Given the description of an element on the screen output the (x, y) to click on. 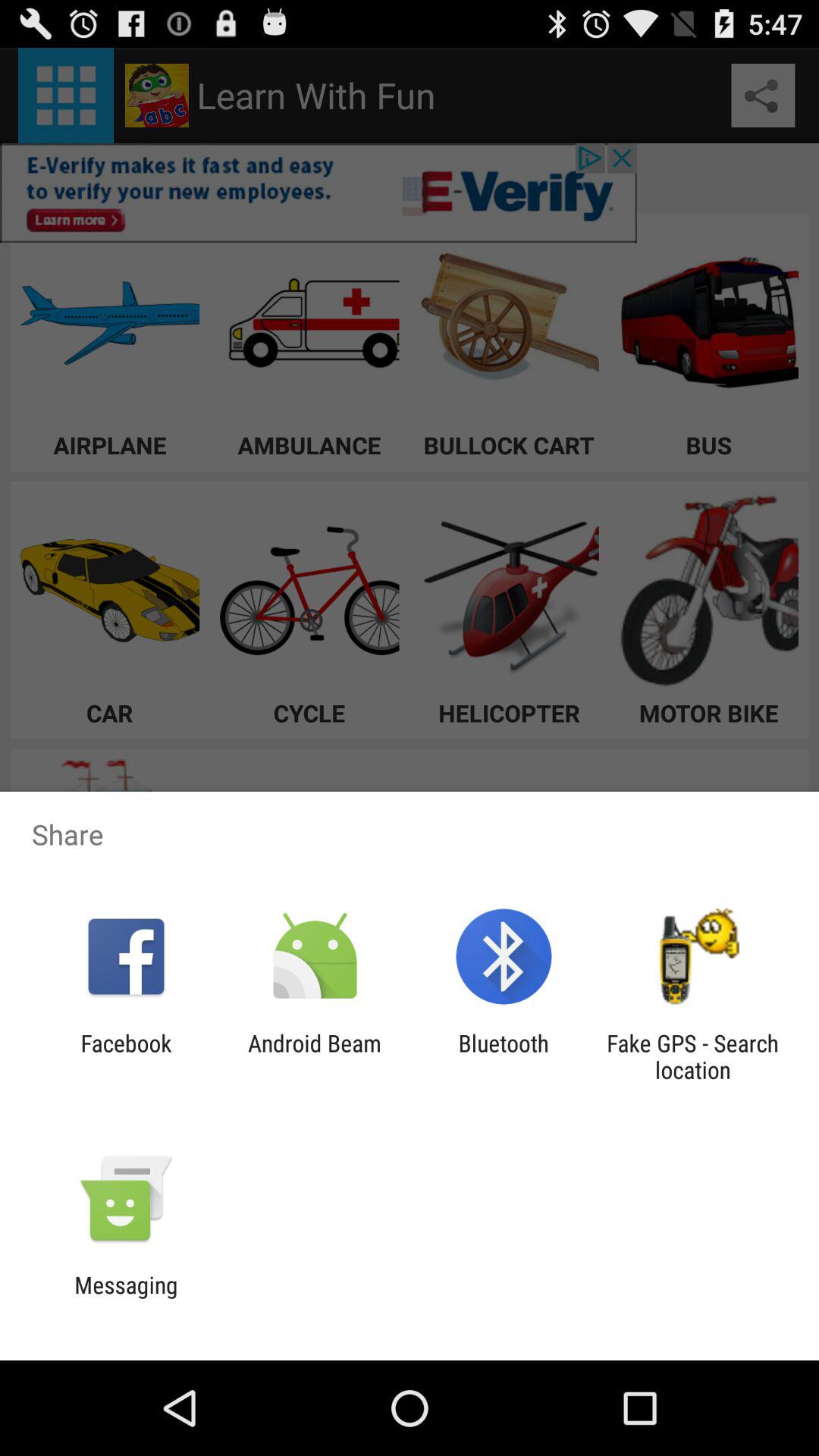
scroll until the messaging (126, 1298)
